Given the description of an element on the screen output the (x, y) to click on. 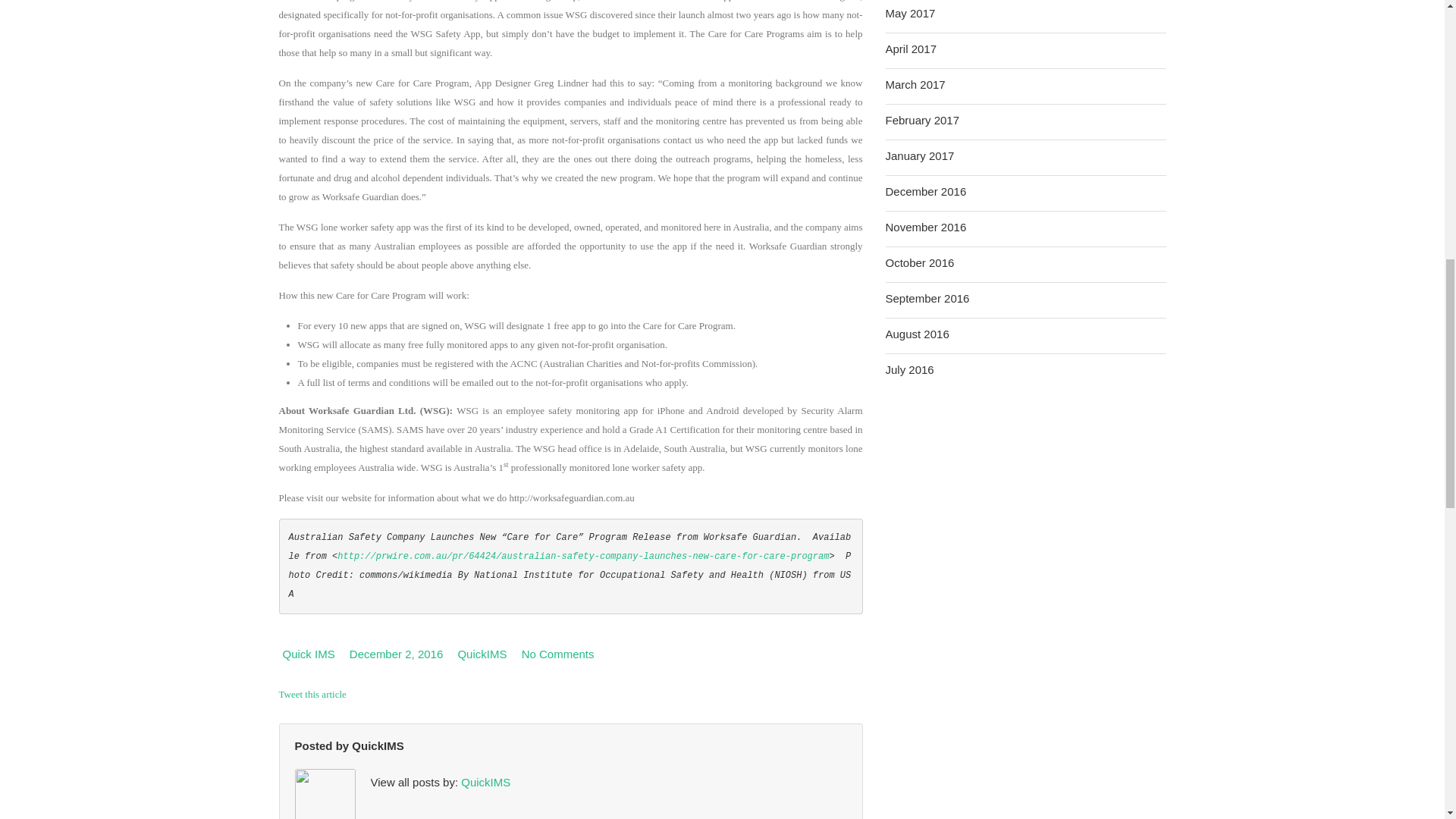
Posts by QuickIMS (377, 745)
Posts by QuickIMS (486, 781)
QuickIMS (486, 781)
QuickIMS (481, 653)
May 2017 (910, 13)
QuickIMS (377, 745)
No Comments (557, 653)
Quick IMS (308, 653)
April 2017 (911, 49)
Posts by QuickIMS (481, 653)
Tweet this article (312, 694)
